Given the description of an element on the screen output the (x, y) to click on. 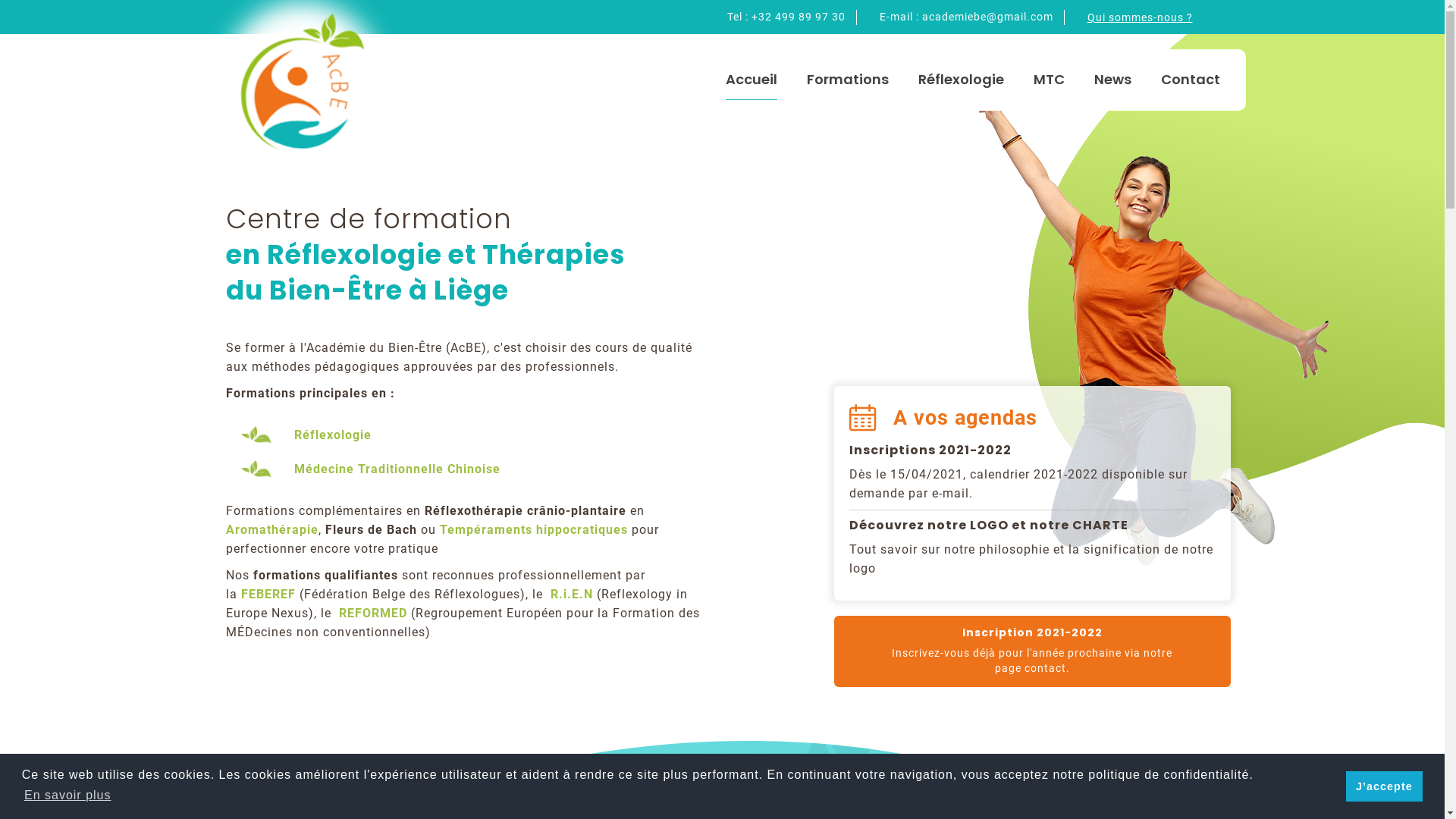
+32 499 89 97 30 Element type: text (797, 16)
Academie-bien-etre-Formations Element type: hover (1140, 314)
Contact Element type: text (1190, 79)
En savoir plus Element type: text (67, 795)
Inscriptions 2021-2022 Element type: text (930, 449)
Qui sommes-nous ? Element type: text (1139, 17)
Accueil Element type: text (751, 79)
Inscription 2021-2022 Element type: text (1031, 632)
MTC Element type: text (1048, 79)
News Element type: text (1112, 79)
Formations Element type: text (846, 79)
academiebe@gmail.com Element type: text (987, 16)
